Given the description of an element on the screen output the (x, y) to click on. 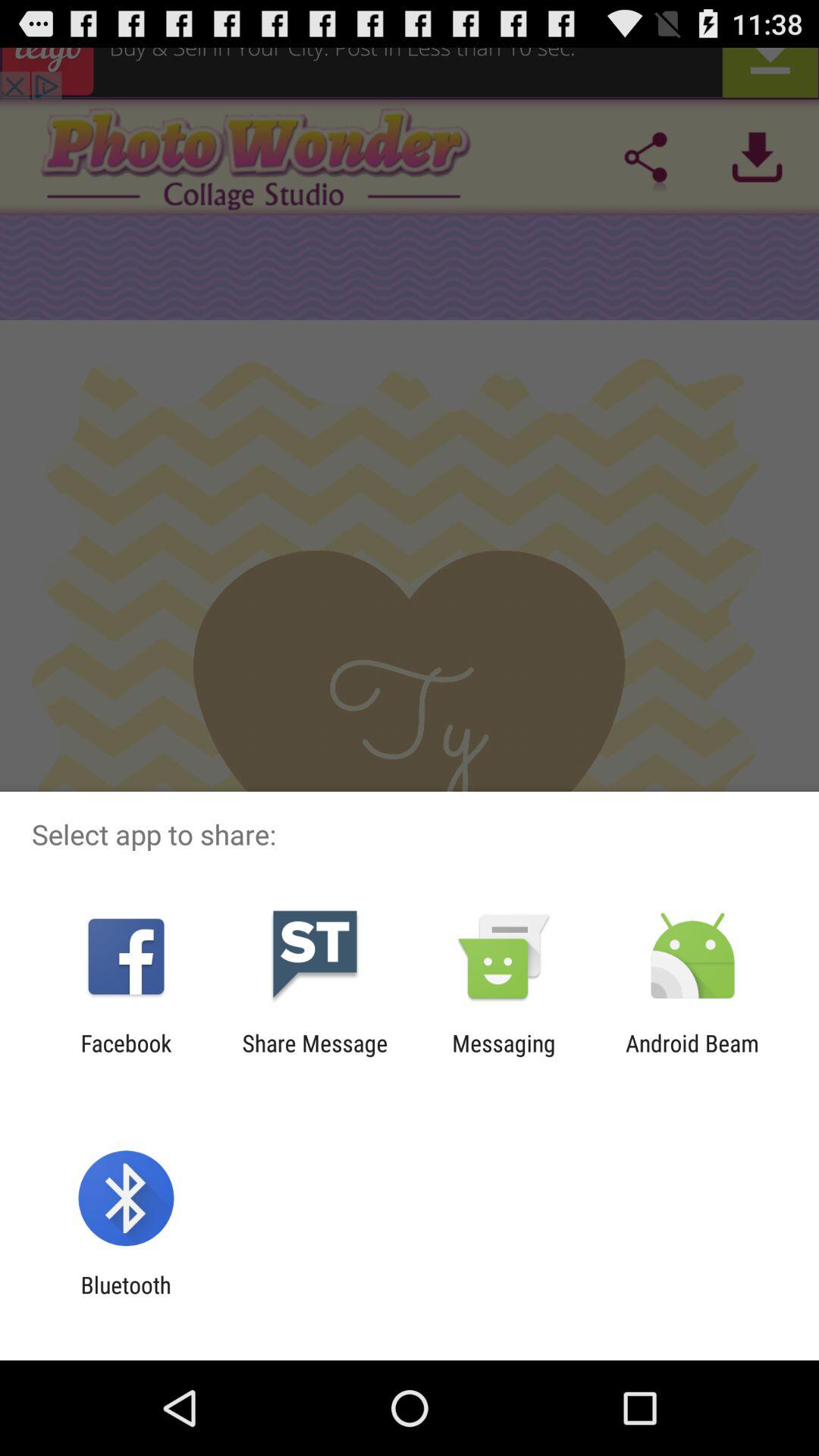
tap the item next to messaging item (692, 1056)
